Given the description of an element on the screen output the (x, y) to click on. 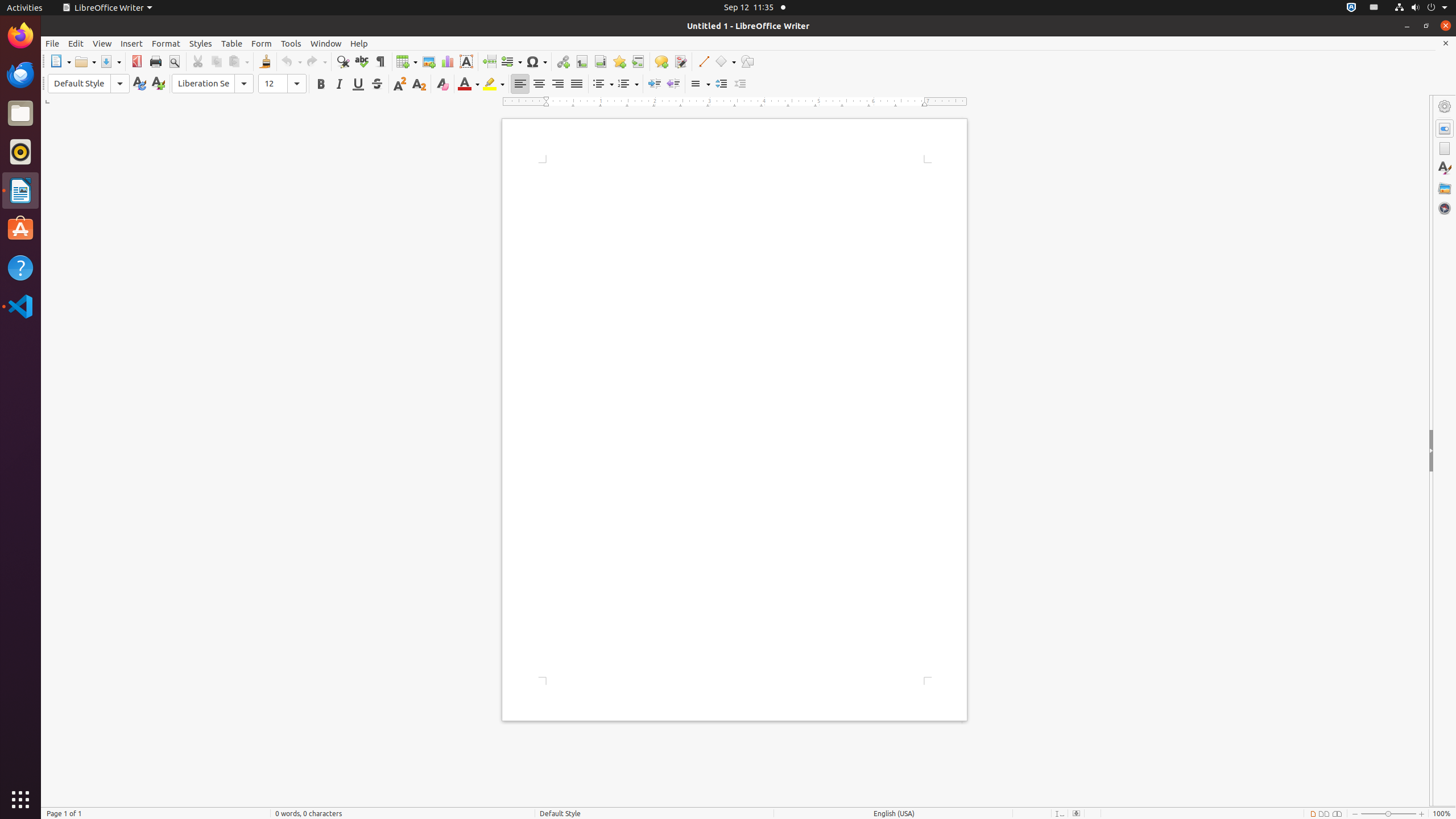
Justified Element type: toggle-button (576, 83)
Tools Element type: menu (290, 43)
Edit Element type: menu (75, 43)
Bookmark Element type: push-button (618, 61)
Cut Element type: push-button (197, 61)
